Given the description of an element on the screen output the (x, y) to click on. 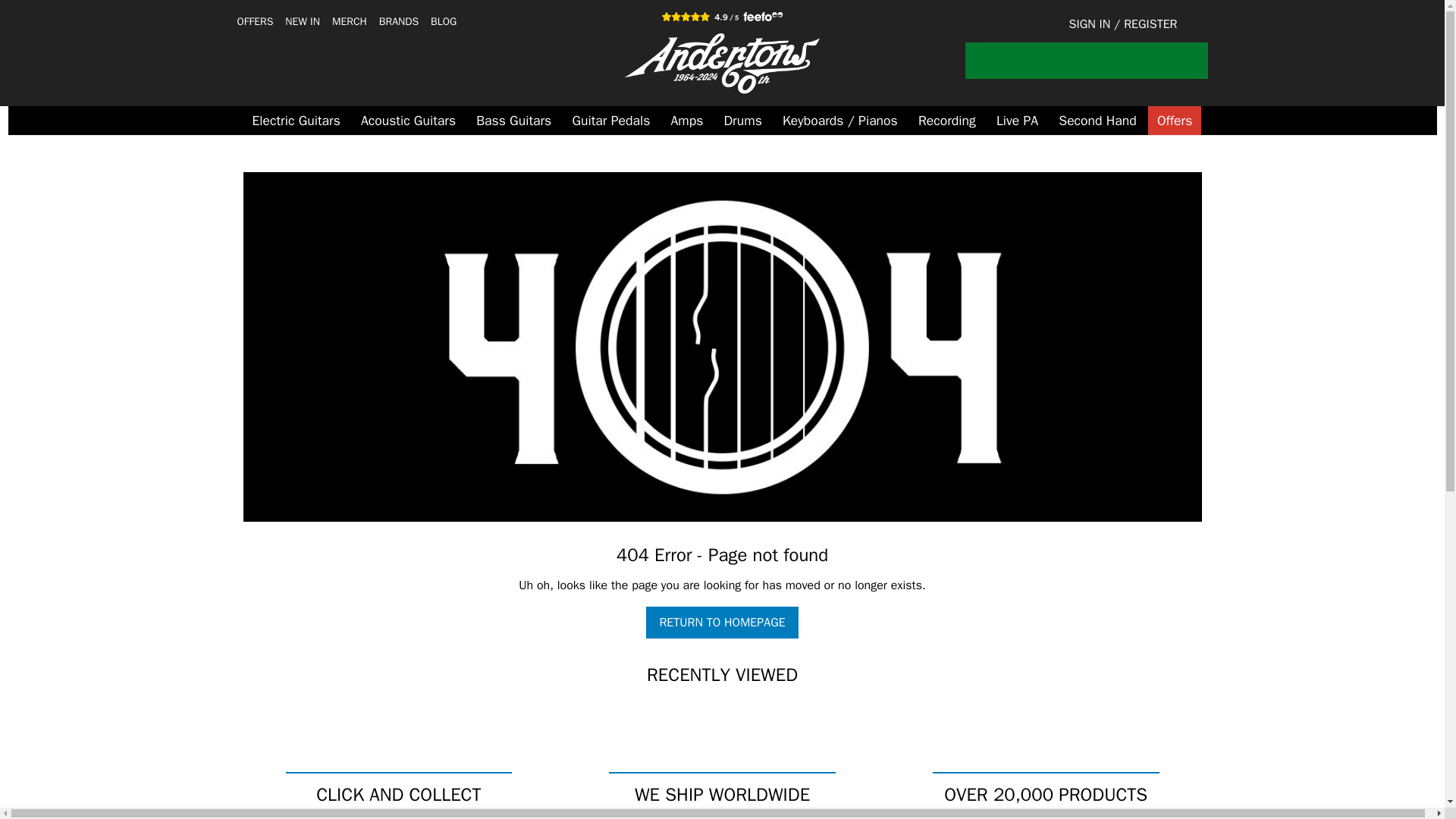
Electric Guitars (296, 120)
Andertons Music Co - Store 1 (722, 63)
BRANDS (398, 21)
BLOG (443, 21)
MERCH (348, 21)
Electric Guitars (296, 120)
OFFERS (254, 21)
NEW IN (302, 21)
